Given the description of an element on the screen output the (x, y) to click on. 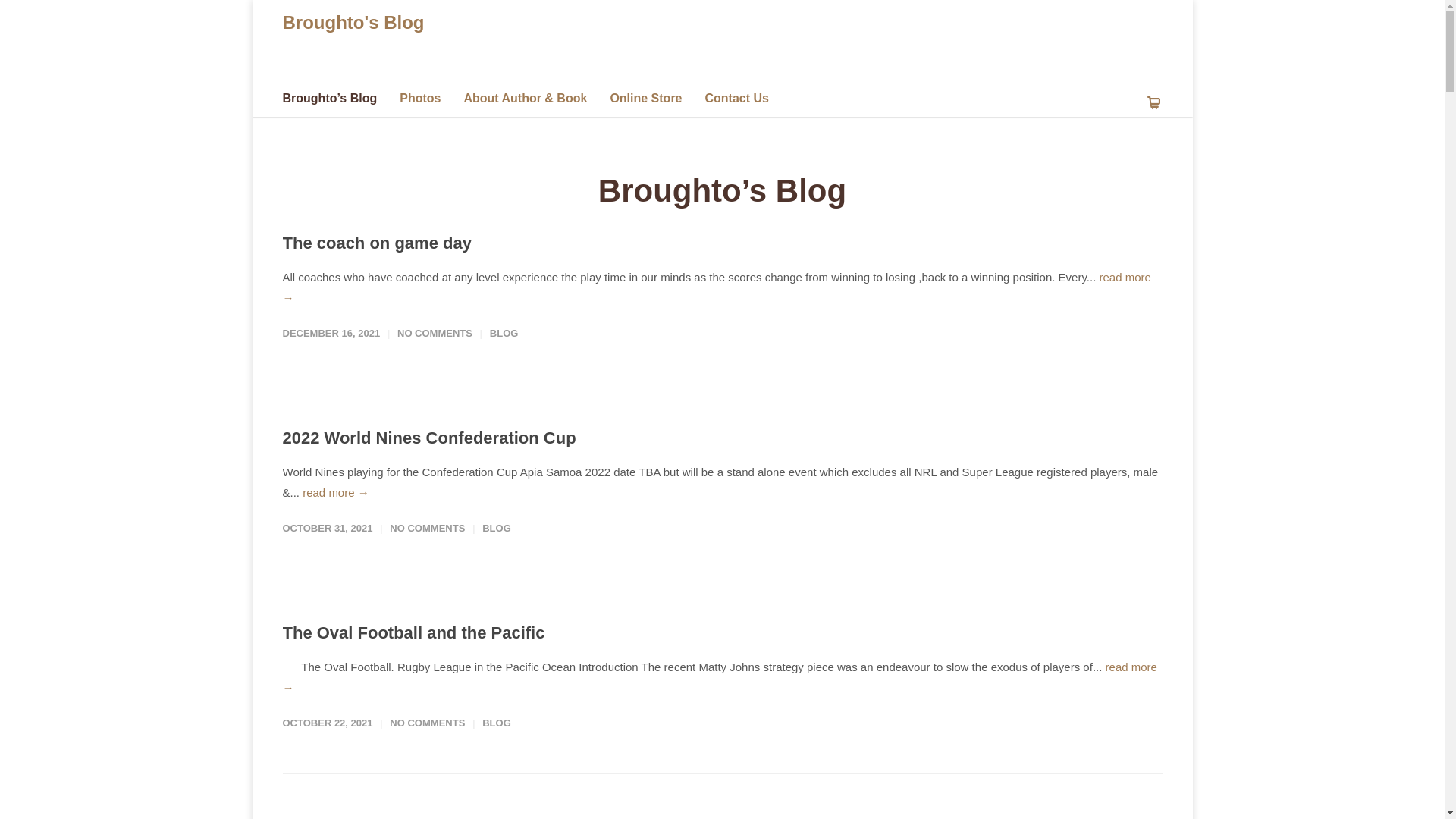
NO COMMENTS Element type: text (426, 722)
NO COMMENTS Element type: text (434, 332)
BLOG Element type: text (496, 527)
BLOG Element type: text (503, 332)
Photos Element type: text (431, 98)
The coach on game day Element type: text (376, 242)
About Author & Book Element type: text (536, 98)
BLOG Element type: text (496, 722)
Online Store Element type: text (656, 98)
Broughto's Blog Element type: text (352, 22)
NO COMMENTS Element type: text (426, 527)
2022 World Nines Confederation Cup Element type: text (428, 437)
The Oval Football and the Pacific Element type: text (413, 632)
Contact Us Element type: text (748, 98)
Search Element type: text (39, 16)
